Given the description of an element on the screen output the (x, y) to click on. 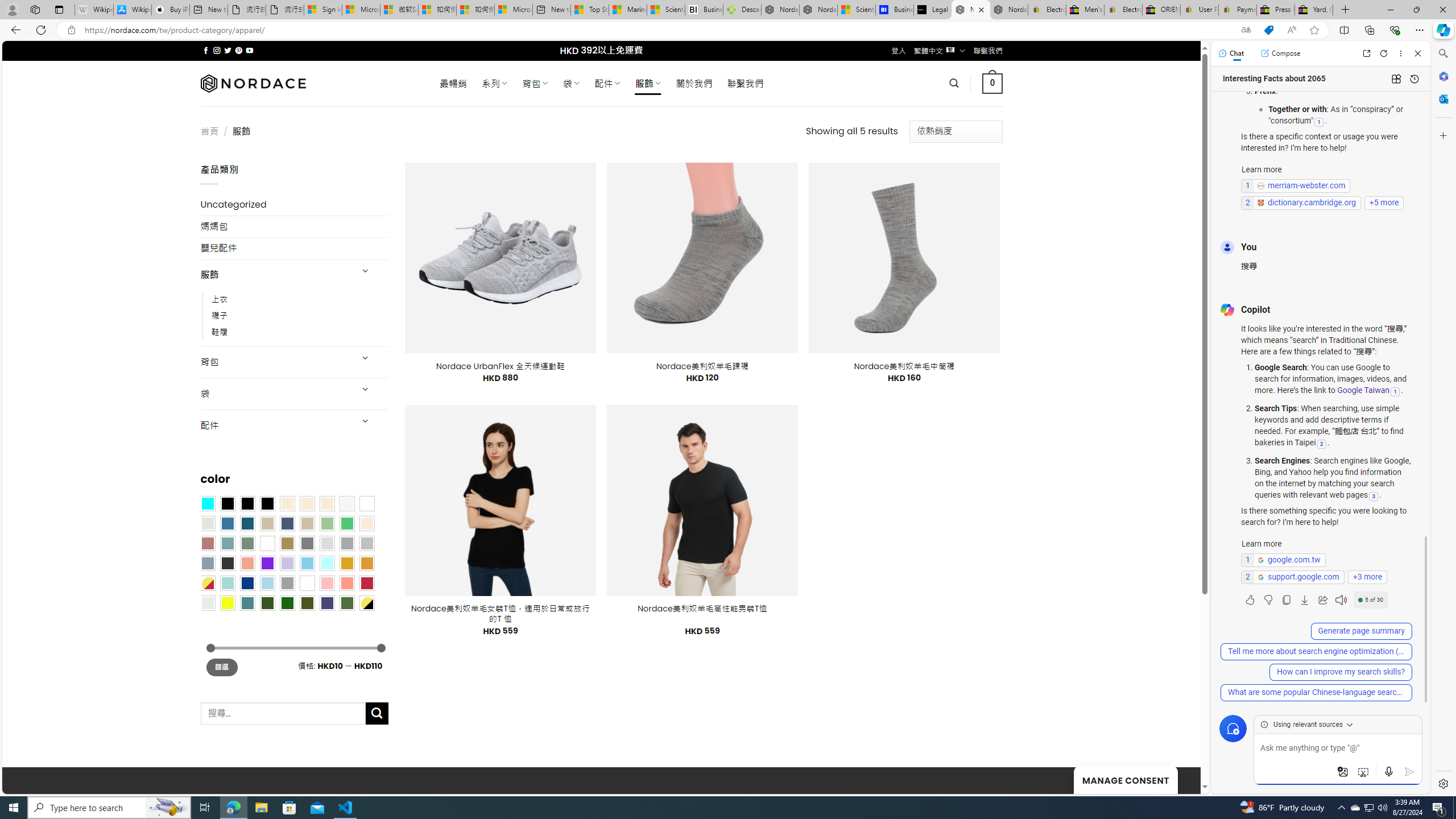
Marine life - MSN (628, 9)
